Given the description of an element on the screen output the (x, y) to click on. 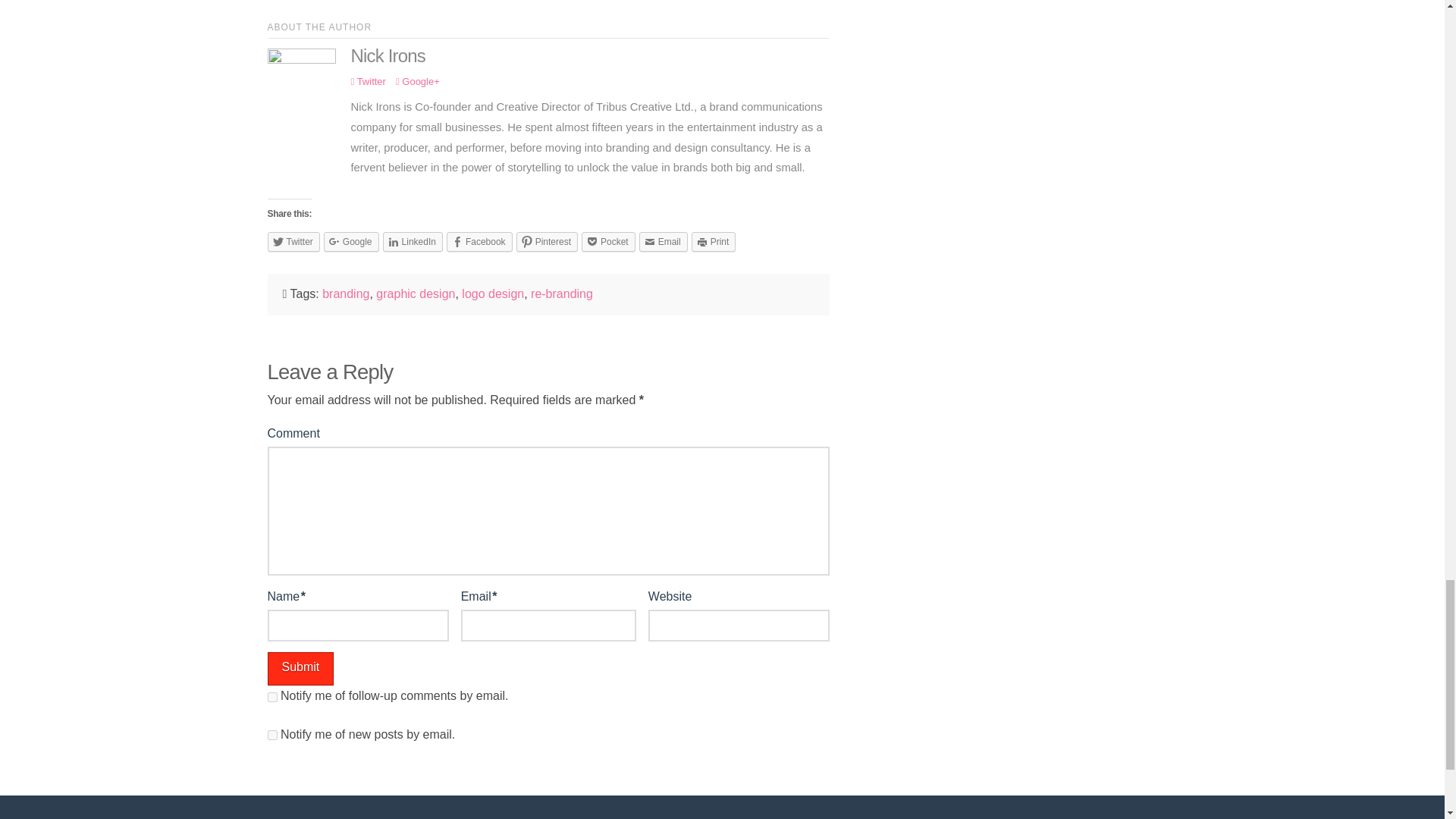
Email (663, 241)
Twitter (367, 81)
Facebook (479, 241)
Google (350, 241)
Click to print (713, 241)
Click to share on LinkedIn (412, 241)
subscribe (271, 696)
re-branding (561, 293)
LinkedIn (412, 241)
Visit the Twitter Profile for Nick Irons (367, 81)
